Given the description of an element on the screen output the (x, y) to click on. 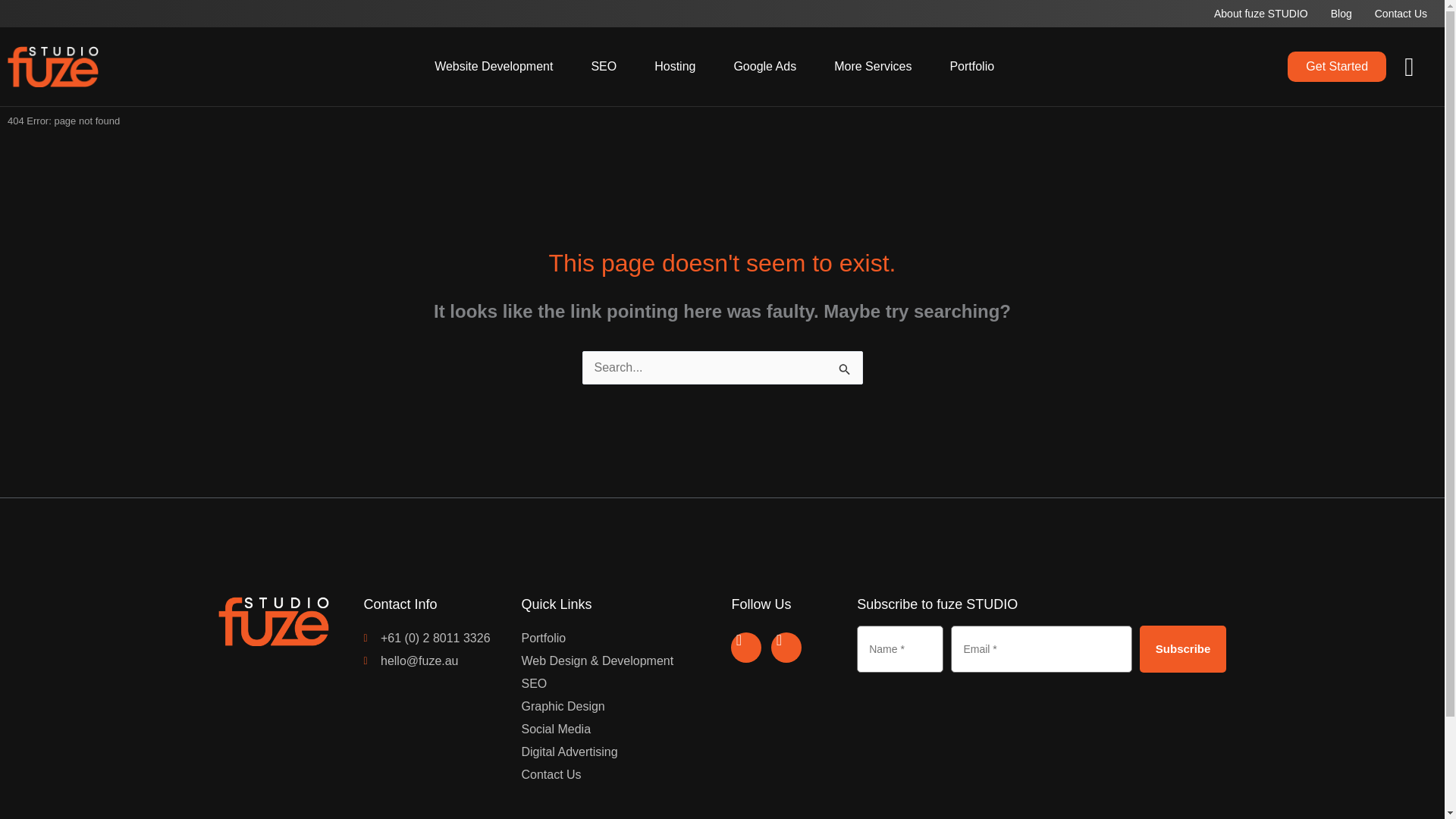
Contact Us (1404, 13)
SEO (599, 66)
Hosting (670, 66)
Website Development (489, 66)
About fuze STUDIO (1265, 13)
More Services (868, 66)
Blog (1345, 13)
Google Ads (760, 66)
